Given the description of an element on the screen output the (x, y) to click on. 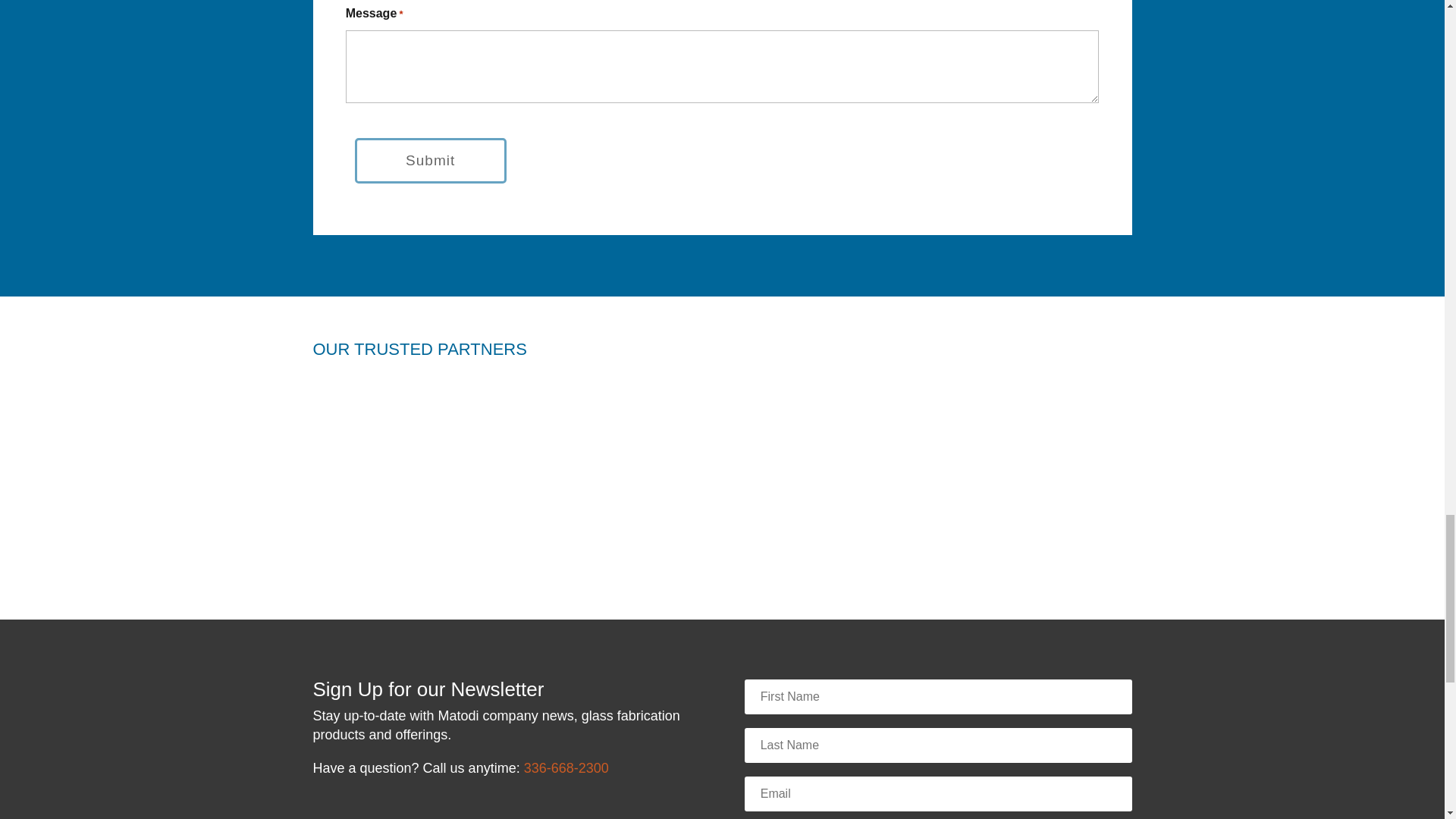
Submit (430, 160)
